Given the description of an element on the screen output the (x, y) to click on. 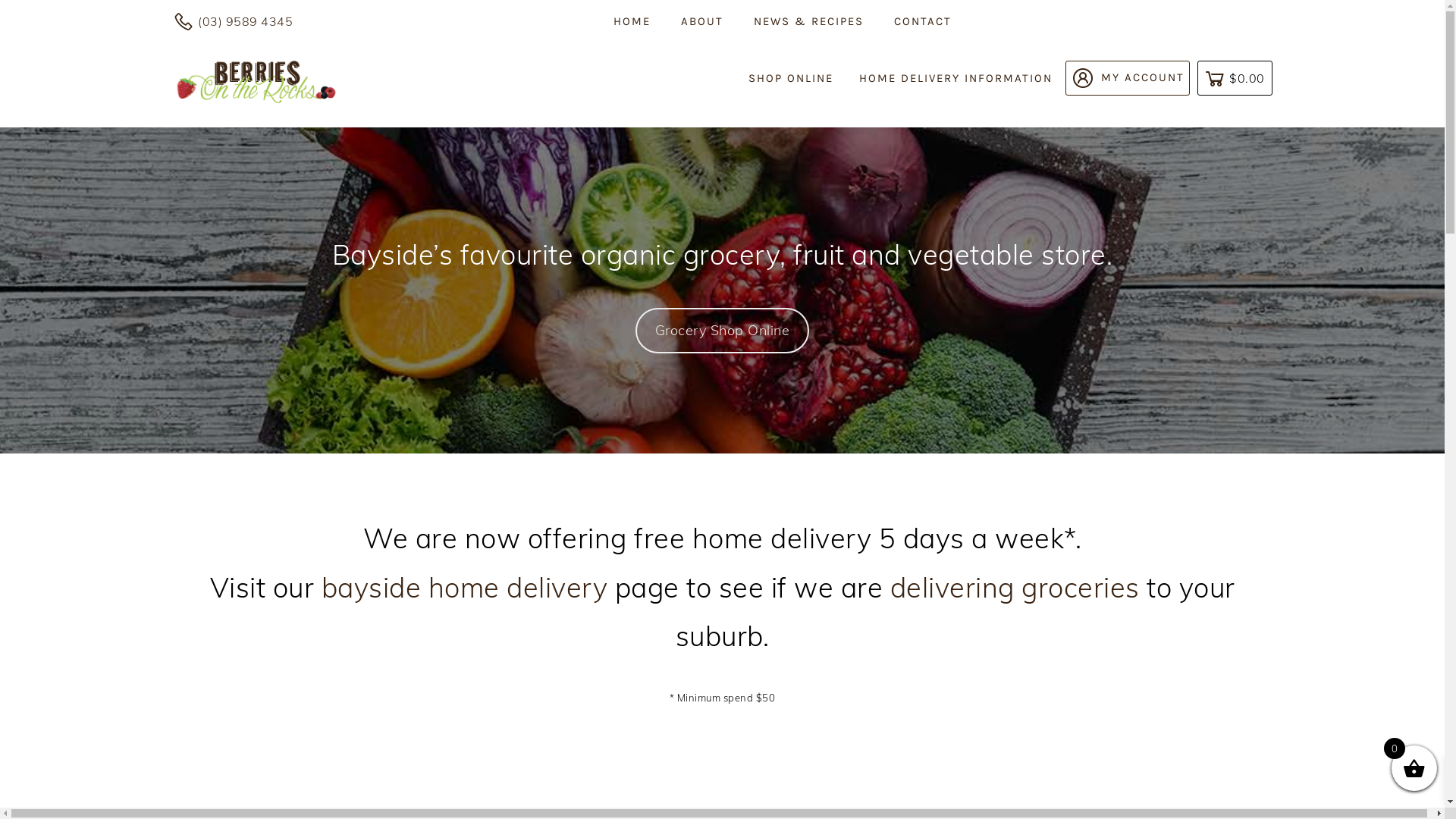
SHOP ONLINE Element type: text (790, 78)
MY ACCOUNT Element type: text (1126, 77)
Skip to primary navigation Element type: text (0, 0)
ABOUT Element type: text (702, 21)
delivering groceries Element type: text (1014, 587)
bayside home delivery Element type: text (468, 587)
CONTACT Element type: text (922, 21)
(03) 9589 4345 Element type: text (232, 21)
Grocery Shop Online Element type: text (722, 330)
NEWS & RECIPES Element type: text (808, 21)
HOME Element type: text (631, 21)
BERRIES ON THE ROCKS Element type: text (220, 152)
HOME DELIVERY INFORMATION Element type: text (955, 78)
